Given the description of an element on the screen output the (x, y) to click on. 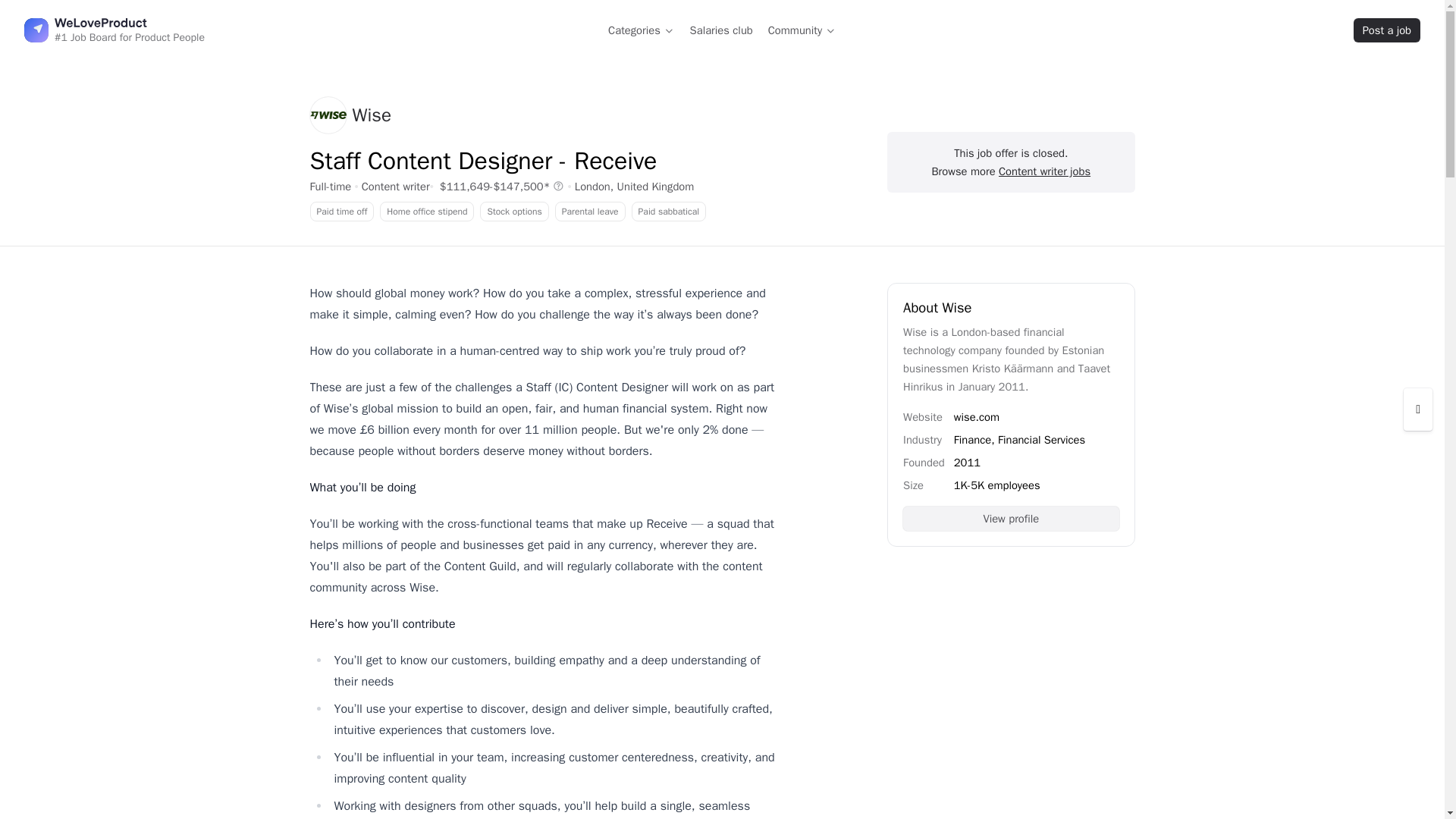
View jobs from Wise (349, 115)
browse more Content writer jobs (395, 186)
browse more Content writer jobs (1044, 171)
Salaries club (721, 30)
